Given the description of an element on the screen output the (x, y) to click on. 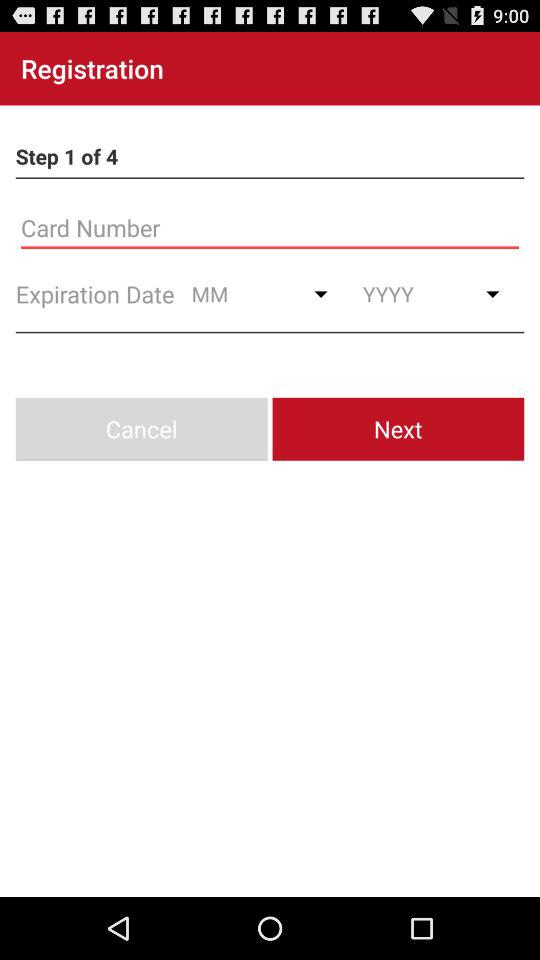
card number (269, 227)
